Given the description of an element on the screen output the (x, y) to click on. 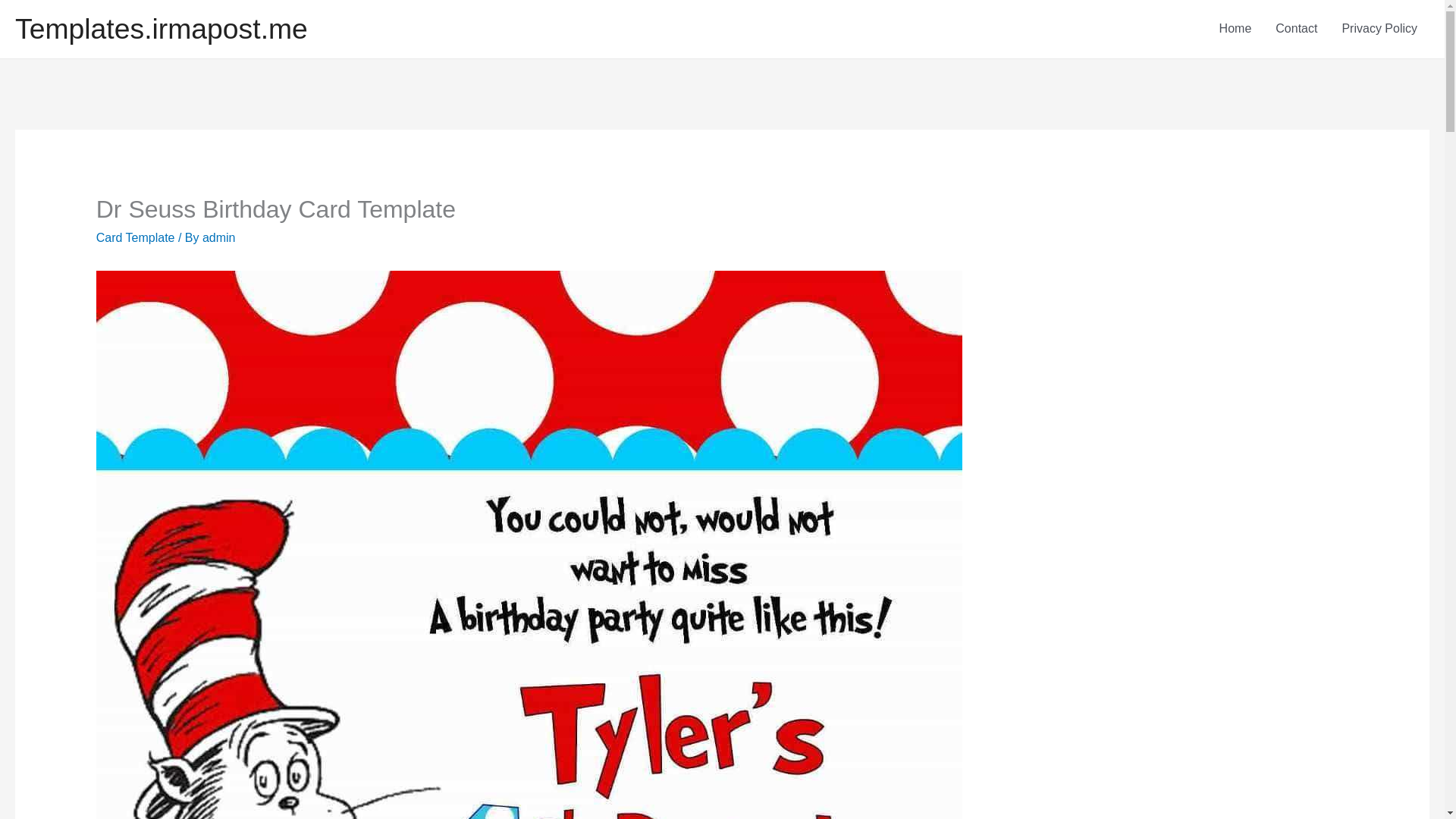
admin (218, 237)
Privacy Policy (1379, 28)
Home (1235, 28)
Contact (1296, 28)
View all posts by admin (218, 237)
Card Template (135, 237)
Templates.irmapost.me (160, 29)
